Given the description of an element on the screen output the (x, y) to click on. 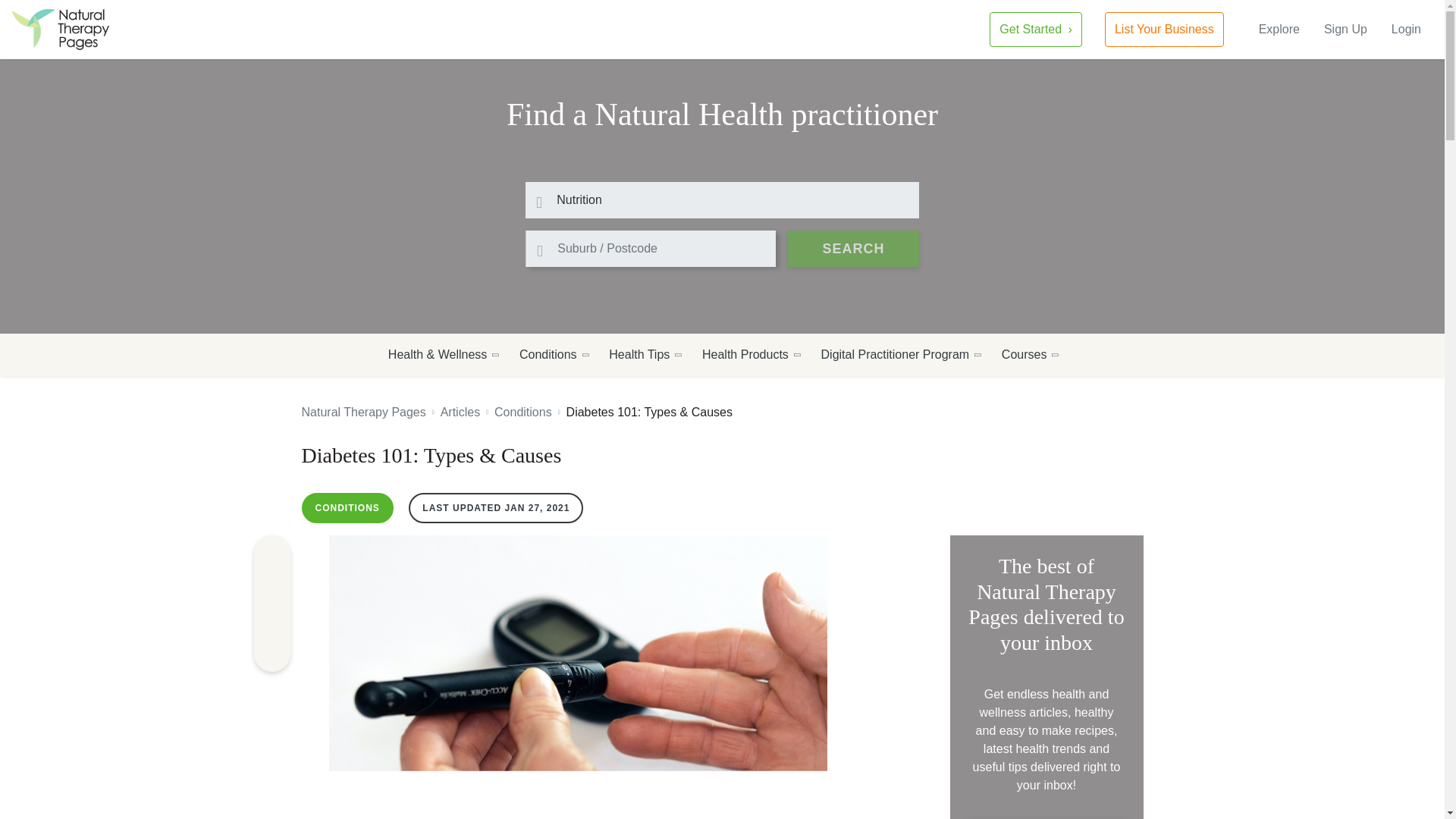
global.social.shareFacebook (271, 553)
Sign Up (1344, 29)
List Your Business (1164, 28)
global.social.shareEmail (271, 653)
Login (1405, 29)
Nutrition (721, 199)
global.social.sharePinterest (271, 586)
global.social.shareTwitter (271, 620)
Nutrition (721, 199)
Explore (1278, 29)
